Given the description of an element on the screen output the (x, y) to click on. 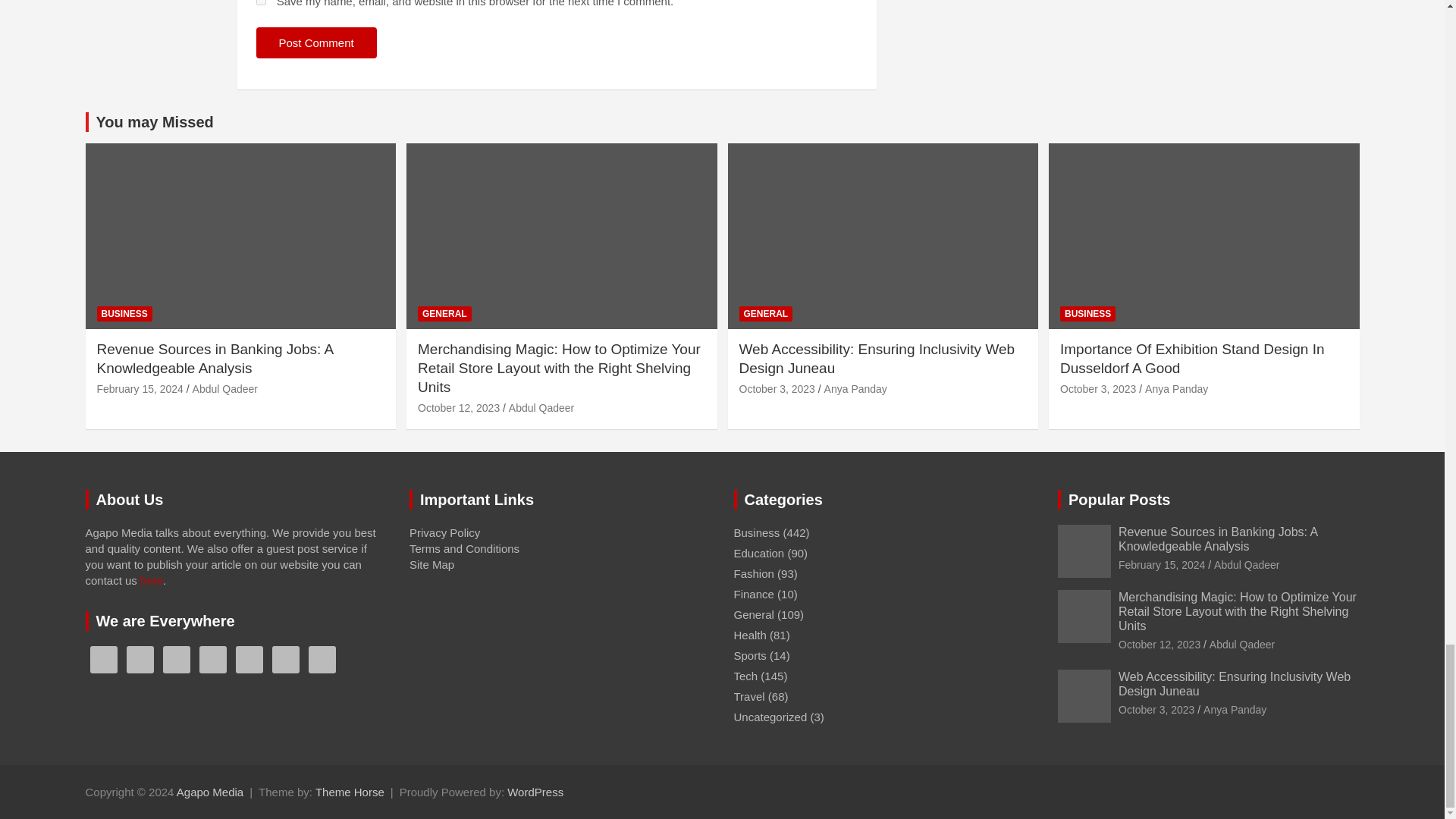
Revenue Sources in Banking Jobs: A Knowledgeable Analysis (140, 388)
yes (261, 2)
Web Accessibility: Ensuring Inclusivity Web Design Juneau (775, 388)
Post Comment (316, 42)
